Given the description of an element on the screen output the (x, y) to click on. 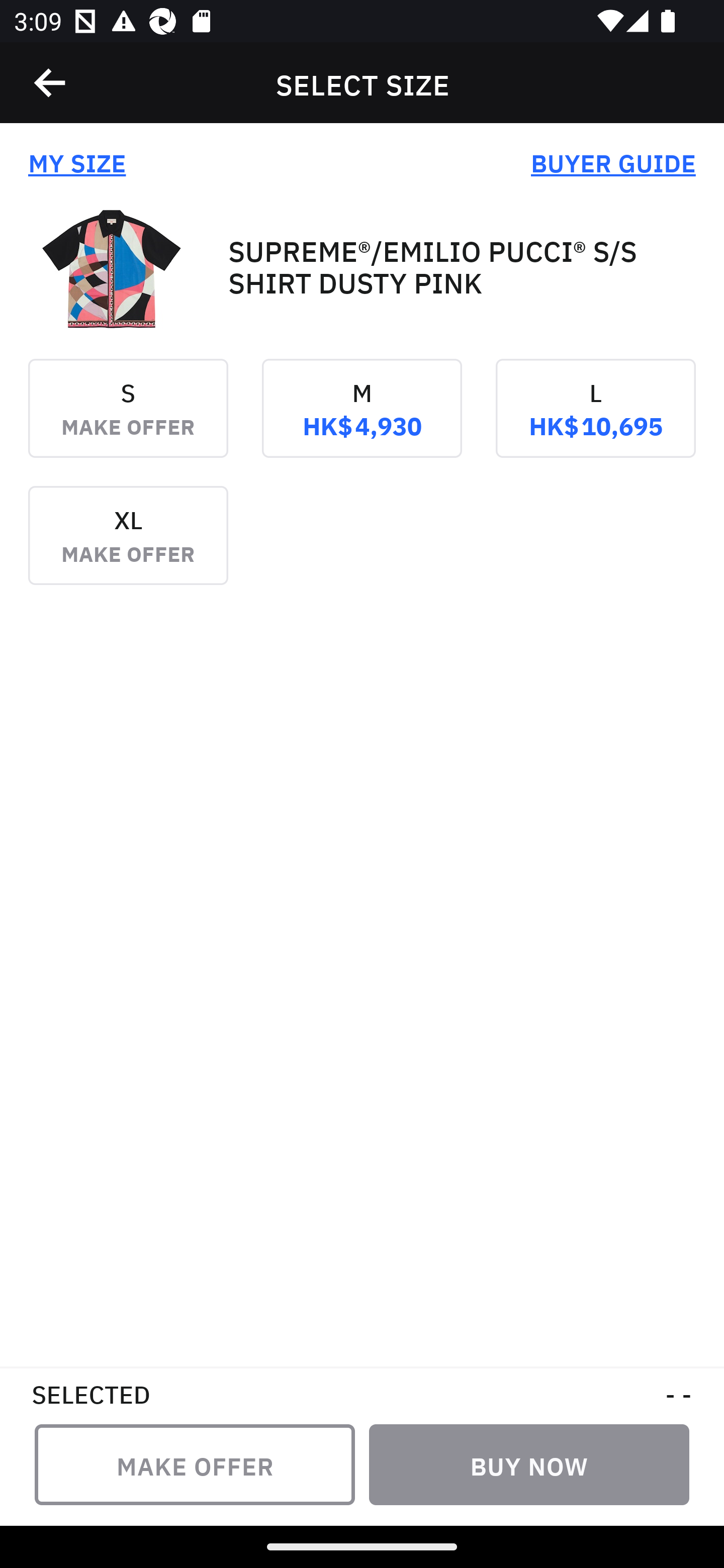
 (50, 83)
S MAKE OFFER (128, 422)
M HK$ 4,930 (361, 422)
L HK$ 10,695 (595, 422)
XL MAKE OFFER (128, 549)
MAKE OFFER (194, 1464)
BUY NOW (529, 1464)
